Given the description of an element on the screen output the (x, y) to click on. 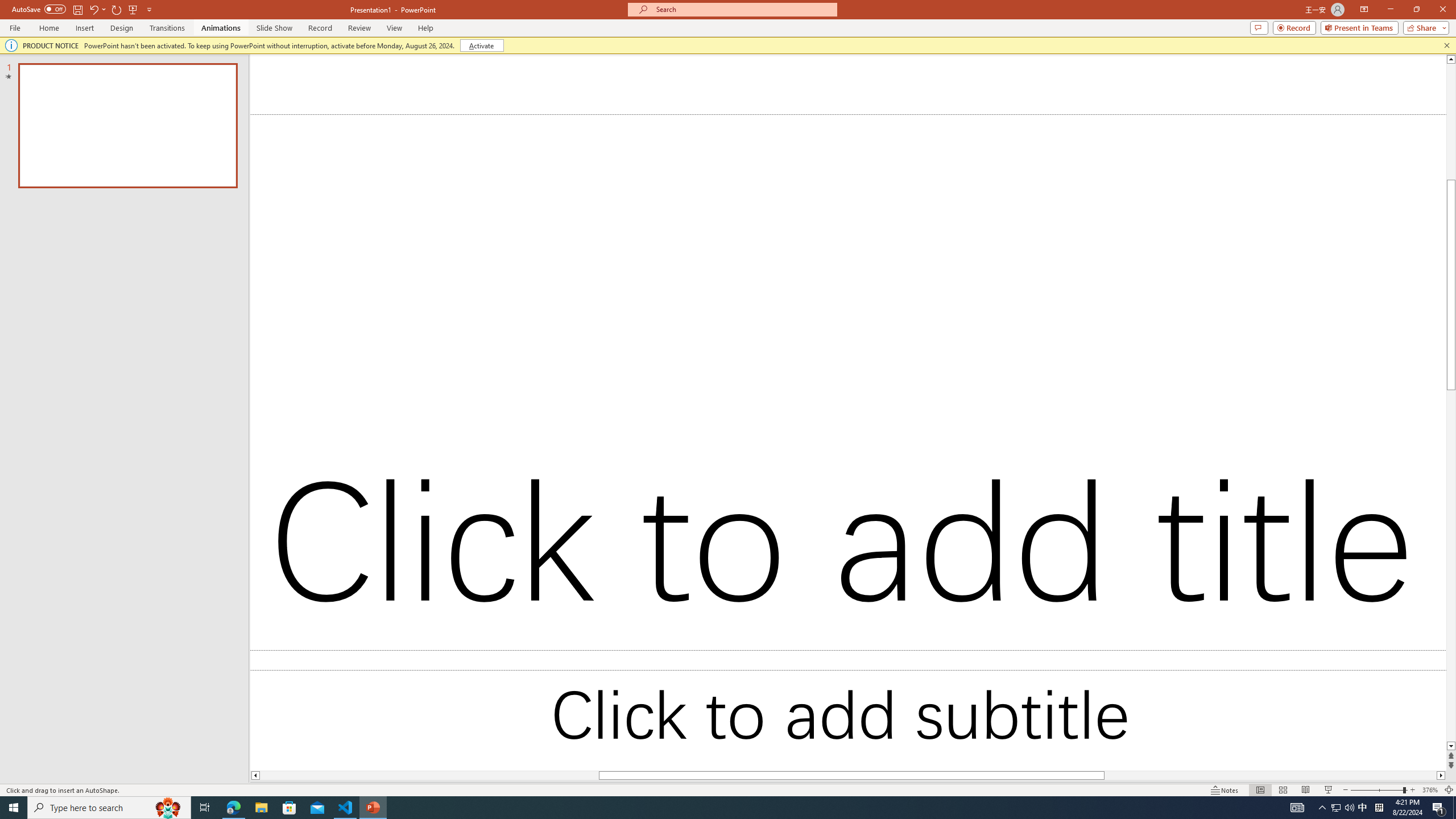
List Paragraph (1369, 505)
Line and Paragraph Spacing (527, 102)
Shrink Font (266, 77)
Page Number Page 1 of 1 (30, 773)
Intense Quote (1369, 440)
Intense Reference (1369, 473)
Options... (1411, 745)
Open (226, 77)
Font Color (323, 102)
